Given the description of an element on the screen output the (x, y) to click on. 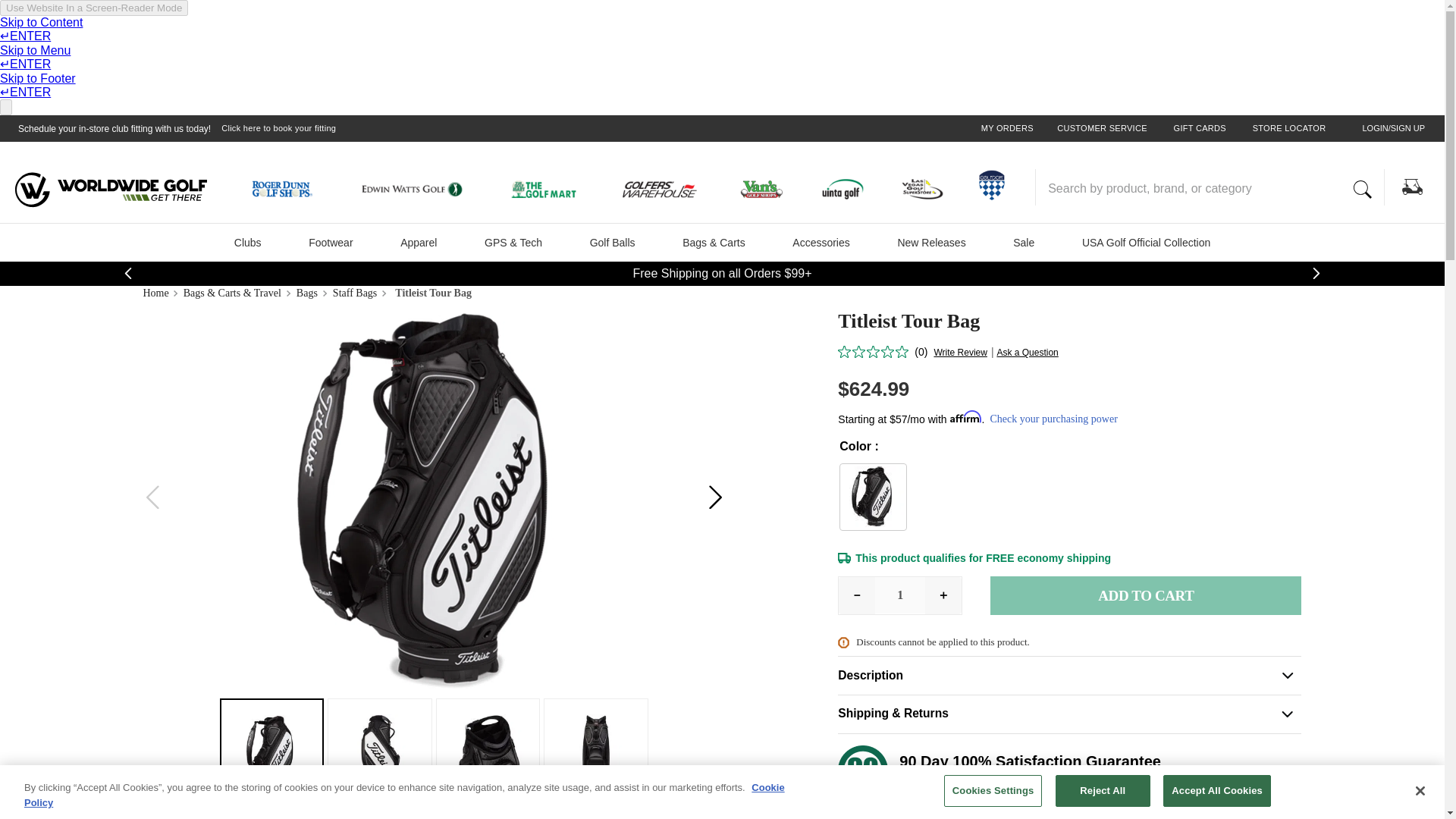
Sale (1024, 242)
Golfers Warehouse (668, 191)
Accessories (820, 242)
Golf Dom (991, 185)
Roger Dunn (289, 191)
Staff Bags (357, 293)
Clubs (248, 242)
New Releases (931, 242)
GPS-Tech (513, 242)
Uninta Golf (847, 191)
CUSTOMER SERVICE (1102, 128)
Vans Golf (767, 191)
STORE LOCATOR (1289, 128)
GIFT CARDS (1199, 128)
Footwear (331, 242)
